Given the description of an element on the screen output the (x, y) to click on. 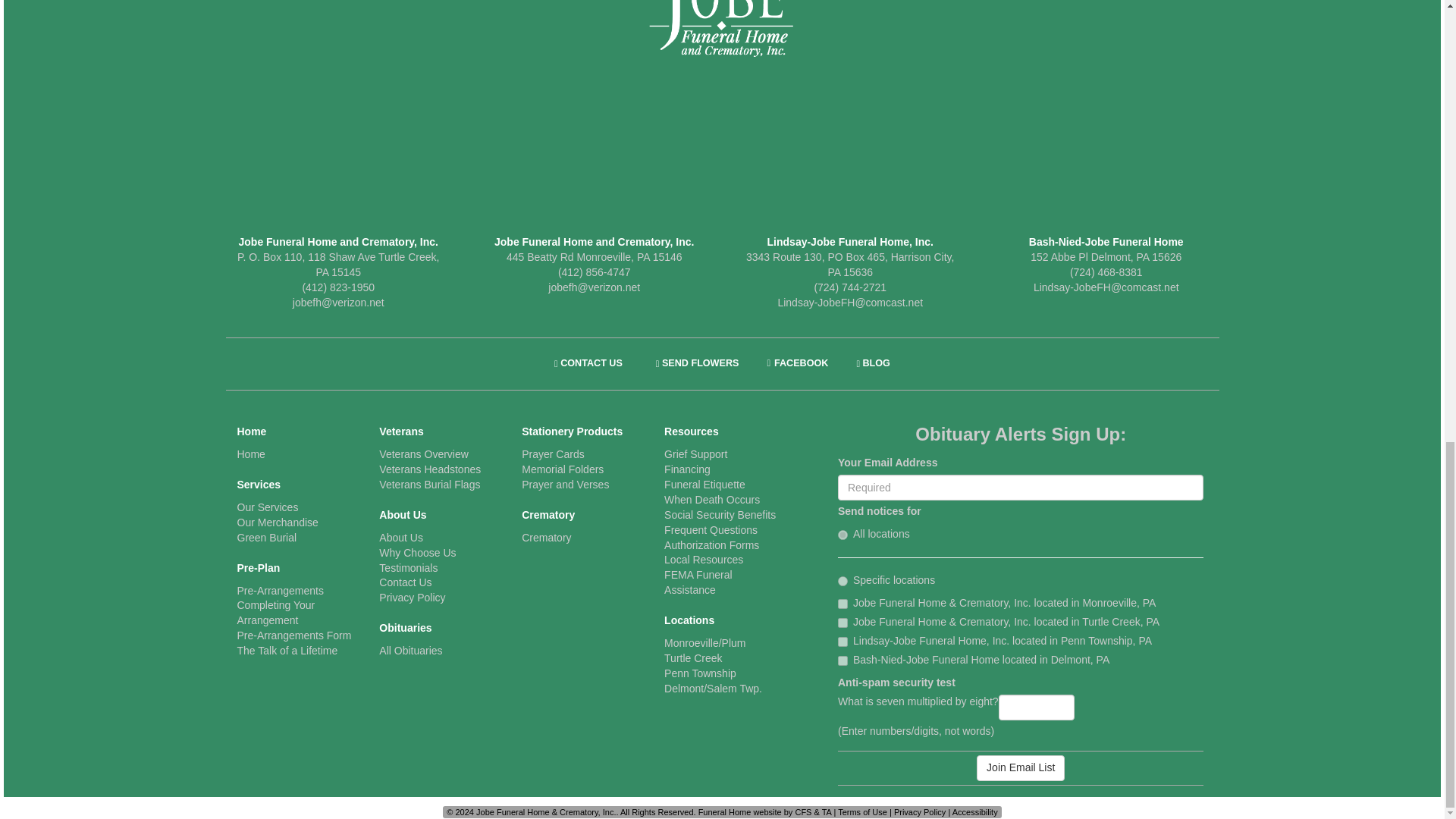
specific (842, 581)
304 (842, 603)
305 (842, 623)
306 (842, 642)
all (842, 534)
307 (842, 660)
